Given the description of an element on the screen output the (x, y) to click on. 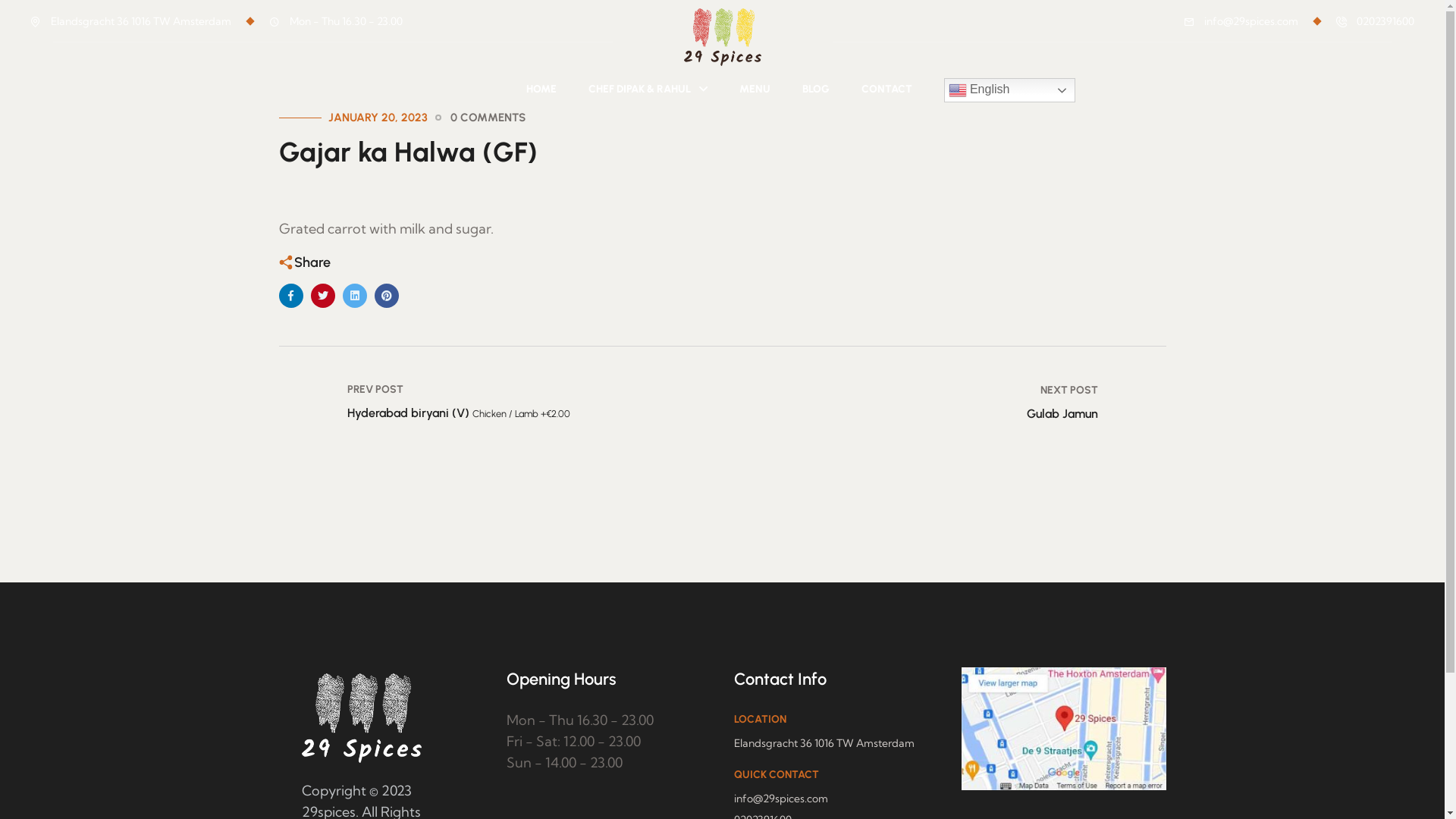
0 COMMENTS Element type: text (487, 117)
info@29spices.com Element type: text (781, 798)
CHEF DIPAK & RAHUL Element type: text (647, 83)
29 Spices Element type: hover (722, 34)
NEXT POST Element type: text (1069, 389)
MENU Element type: text (753, 83)
BLOG Element type: text (815, 83)
info@29spices.com Element type: text (1251, 20)
English Element type: text (1008, 90)
0202391600 Element type: text (1385, 20)
HOME Element type: text (541, 83)
CONTACT Element type: text (886, 83)
PREV POST Element type: text (375, 389)
